Given the description of an element on the screen output the (x, y) to click on. 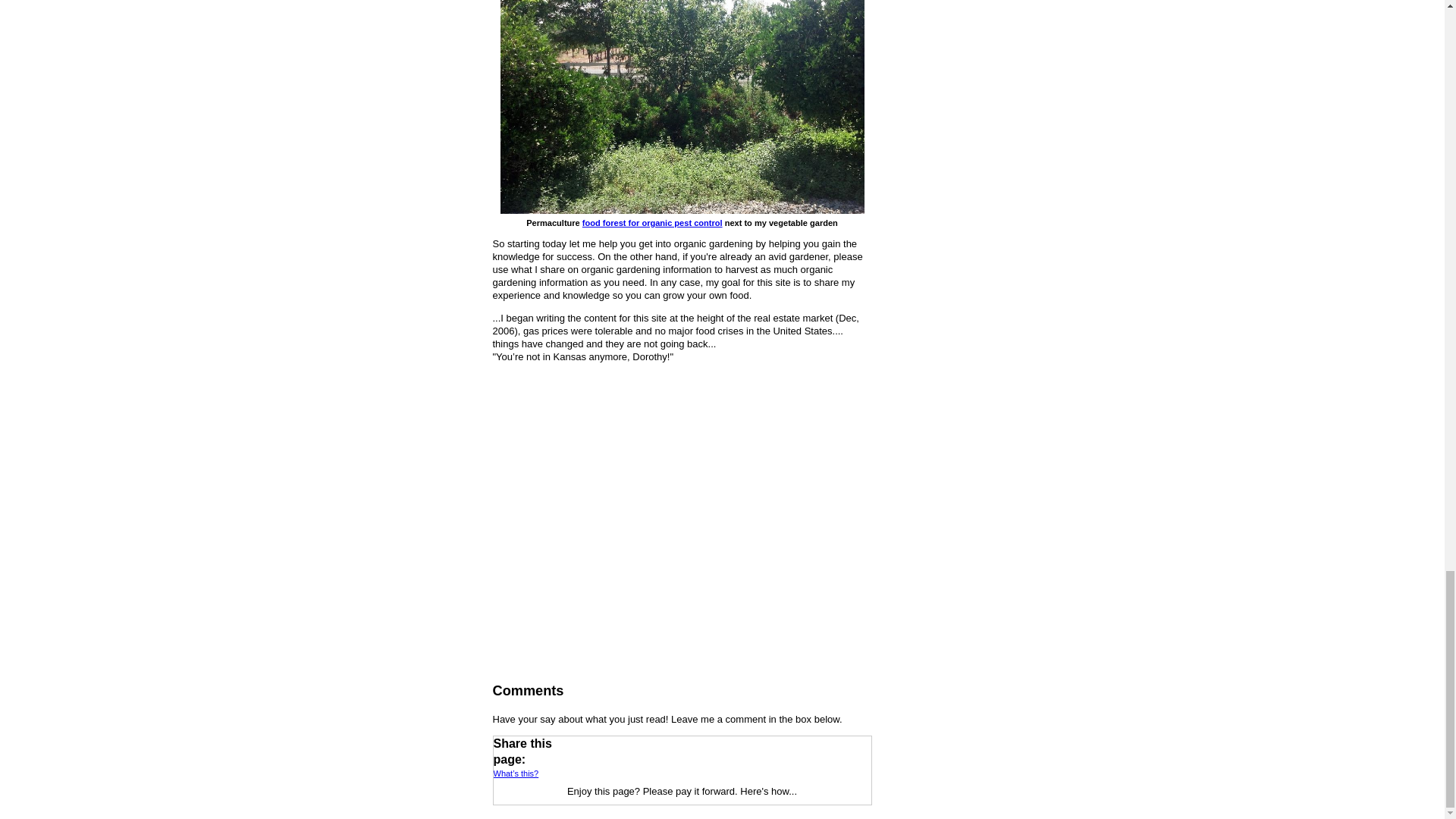
food forest for organic pest control (652, 222)
